Given the description of an element on the screen output the (x, y) to click on. 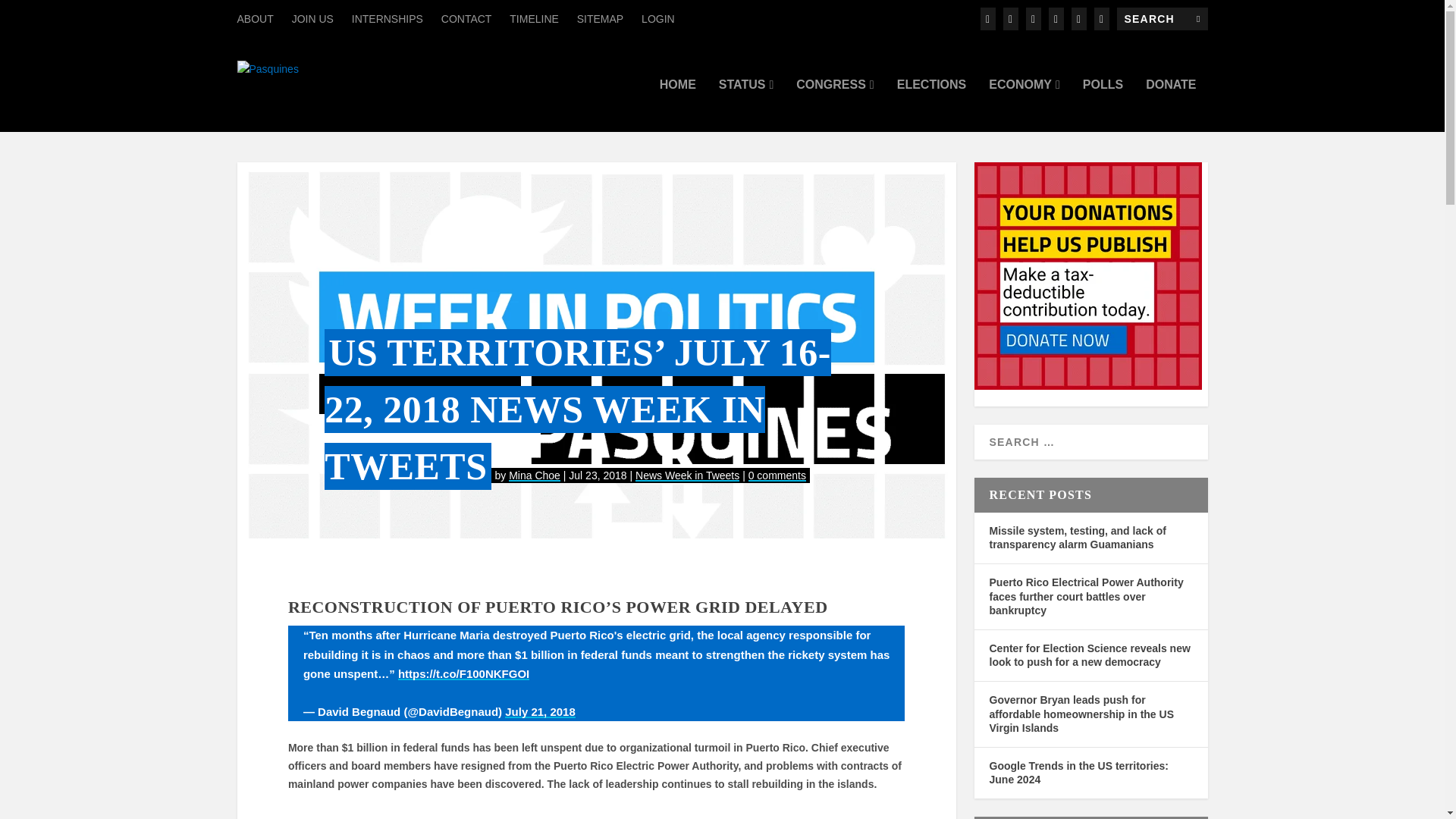
Search for: (1161, 18)
JOIN US (312, 18)
ABOUT (254, 18)
INTERNSHIPS (387, 18)
CONTACT (466, 18)
TIMELINE (534, 18)
STATUS (746, 104)
SITEMAP (599, 18)
CONGRESS (834, 104)
